Given the description of an element on the screen output the (x, y) to click on. 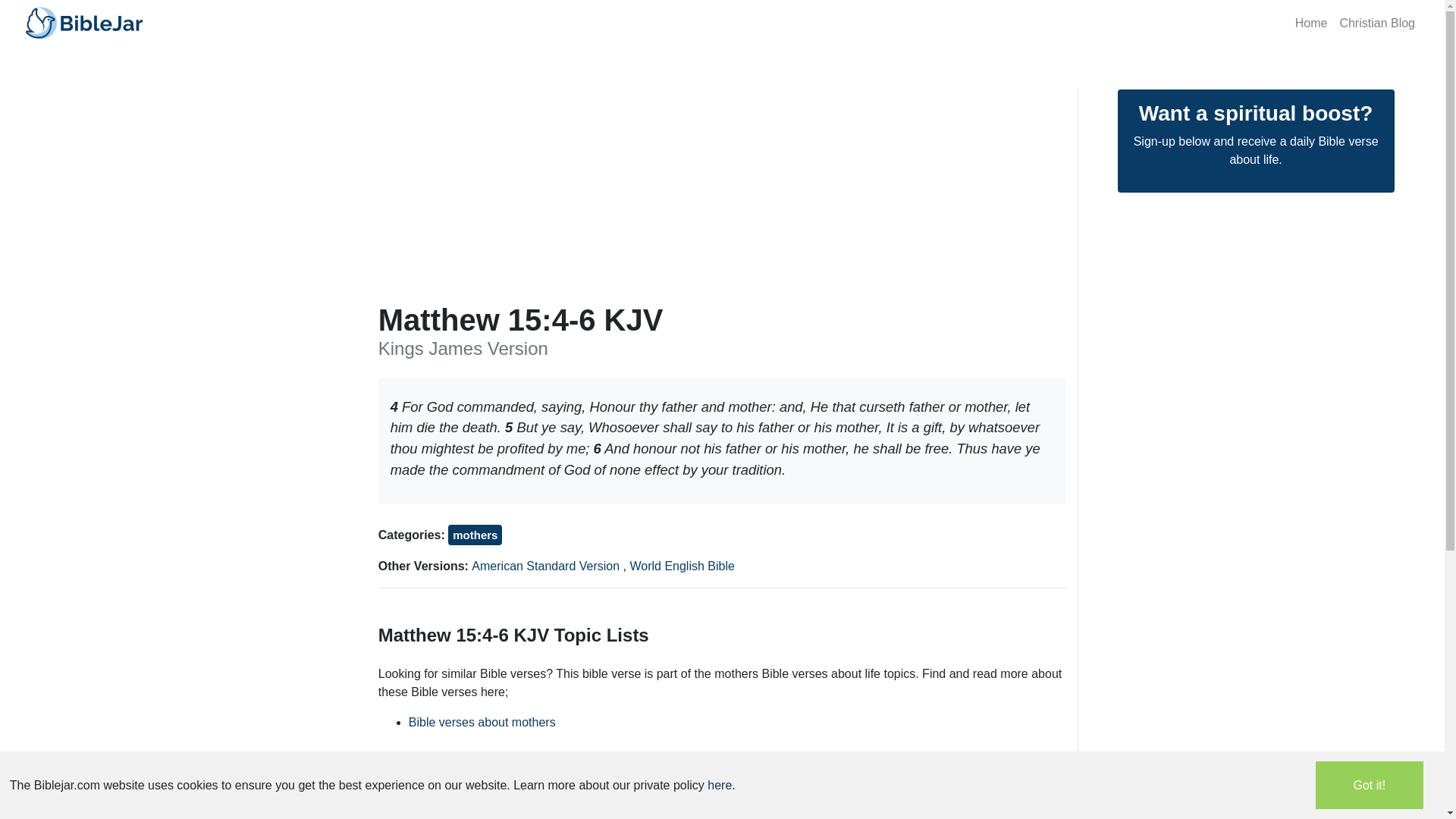
here (719, 784)
Got it! (1369, 785)
Christian Blog (1377, 22)
World English Bible (680, 565)
American Standard Version (547, 565)
BibleJar (82, 22)
Home (1310, 22)
Advertisement (722, 793)
Bible verses about mothers (482, 721)
